Given the description of an element on the screen output the (x, y) to click on. 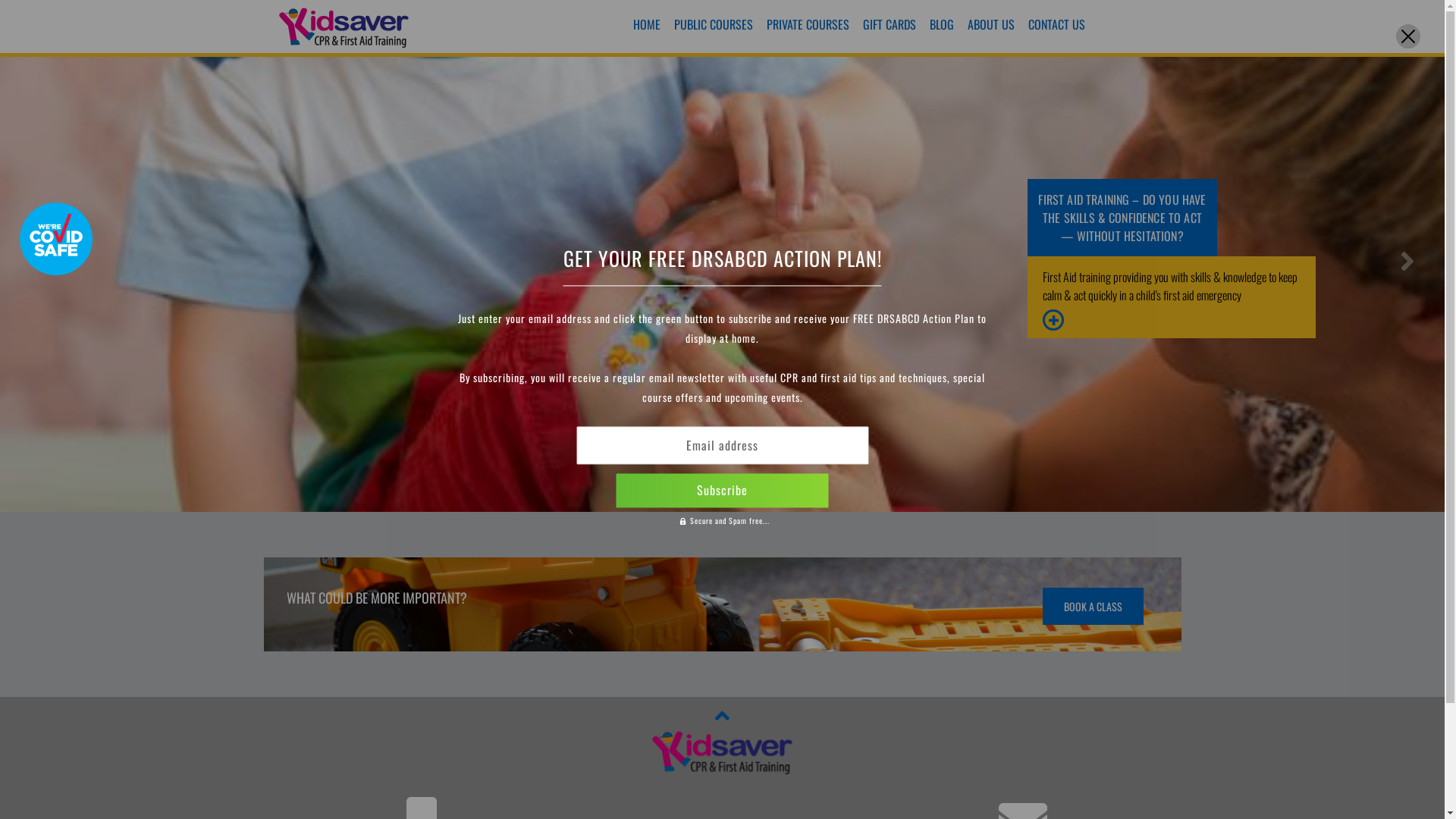
CONTACT US Element type: text (1056, 22)
GIFT CARDS Element type: text (889, 22)
PRIVATE COURSES Element type: text (807, 22)
PUBLIC COURSES Element type: text (713, 22)
Kidsaver Kids CPR & First Aid Training Element type: hover (343, 42)
BOOK A CLASS Element type: text (1091, 605)
HOME Element type: text (646, 22)
ABOUT US Element type: text (990, 22)
BLOG Element type: text (941, 22)
